Given the description of an element on the screen output the (x, y) to click on. 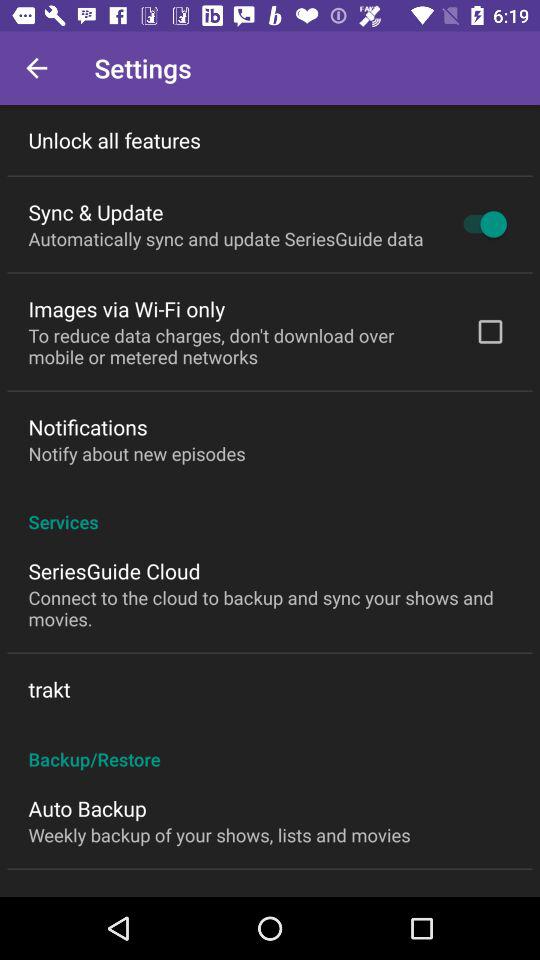
select the icon above the services icon (490, 331)
